Given the description of an element on the screen output the (x, y) to click on. 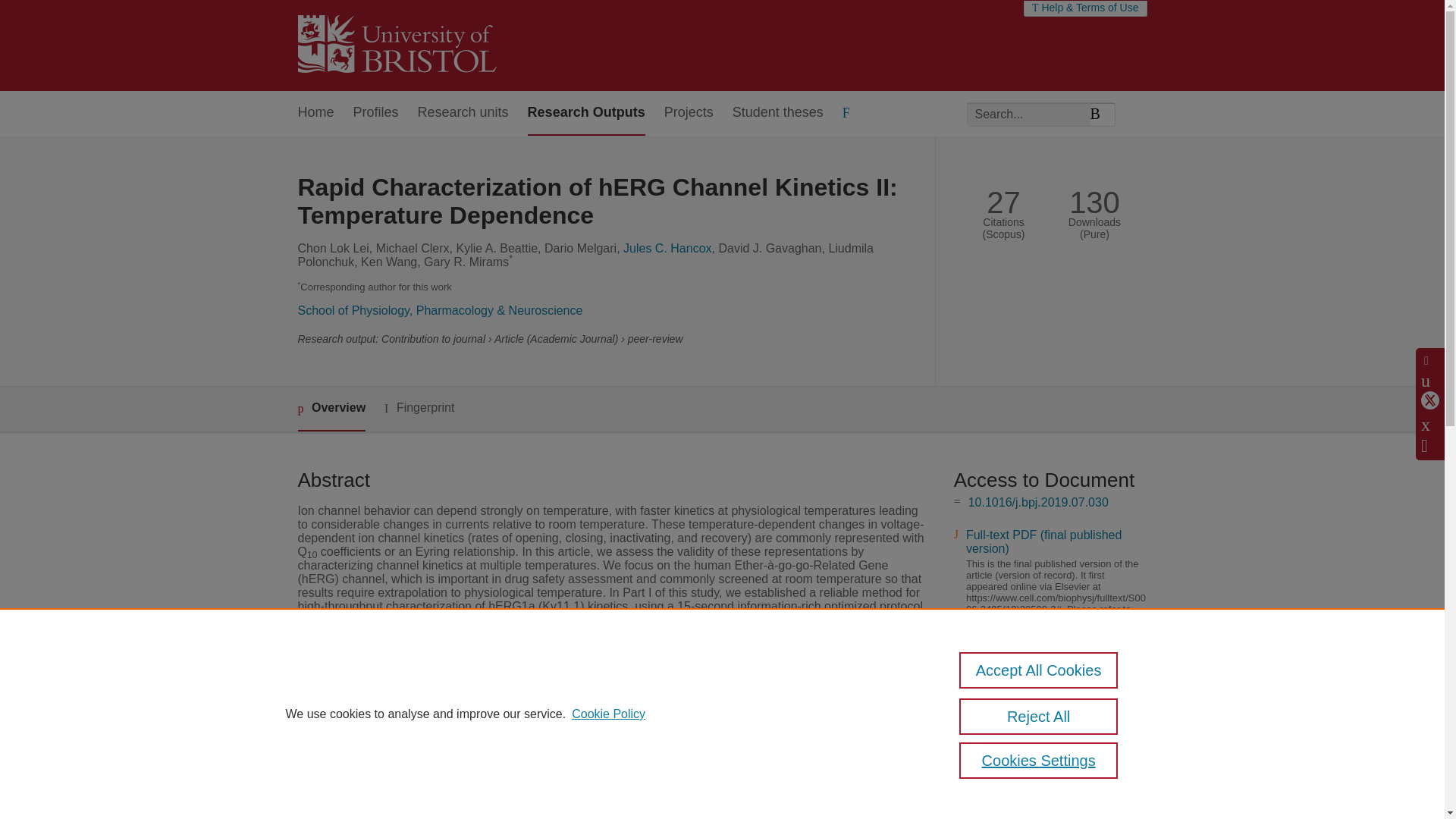
Research units (462, 112)
Profiles (375, 112)
Overview (331, 408)
Link to publication in Scopus (1045, 769)
Fingerprint (419, 407)
Research Outputs (586, 112)
Projects (688, 112)
Student theses (778, 112)
Persistent link (1005, 717)
Jules C. Hancox (667, 247)
